Given the description of an element on the screen output the (x, y) to click on. 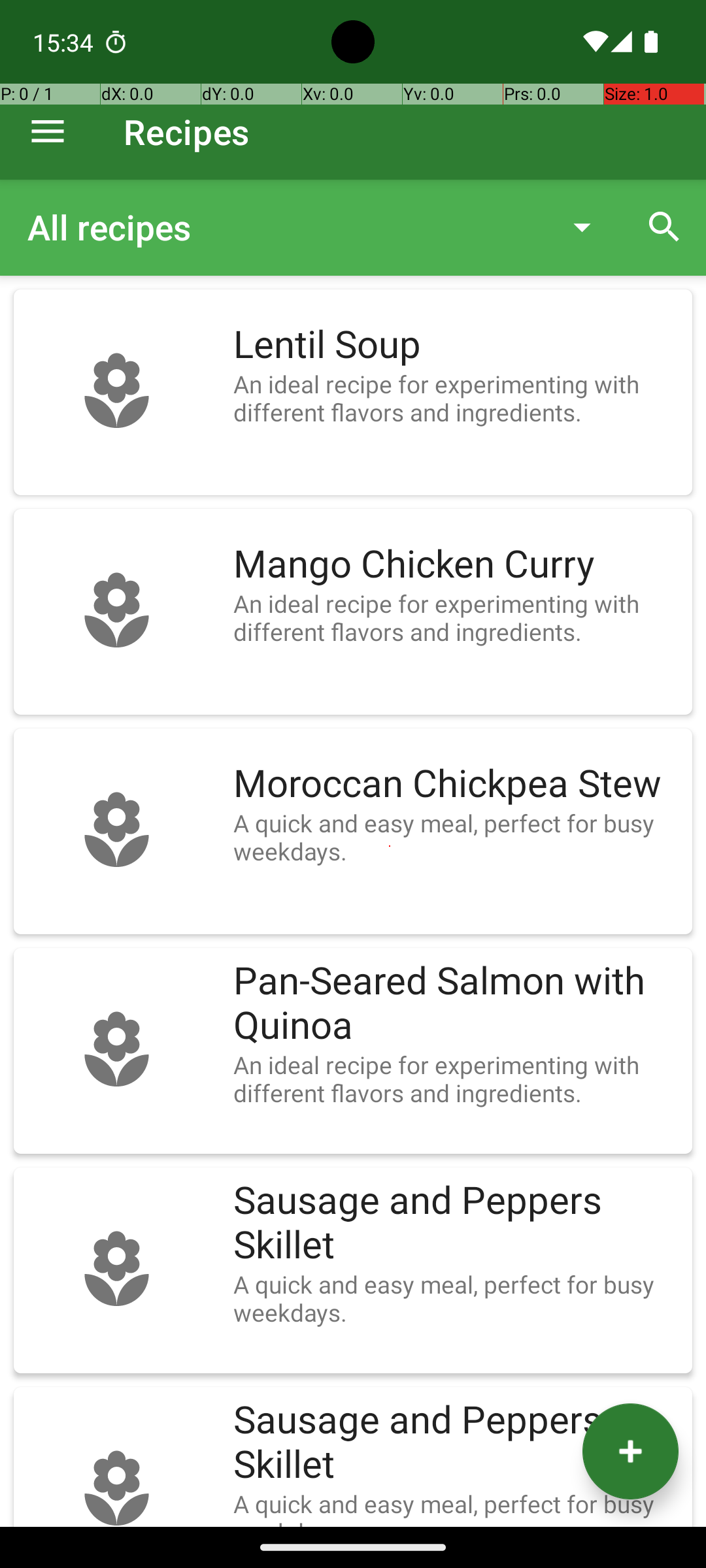
Sausage and Peppers Skillet Element type: android.widget.TextView (455, 1222)
